Given the description of an element on the screen output the (x, y) to click on. 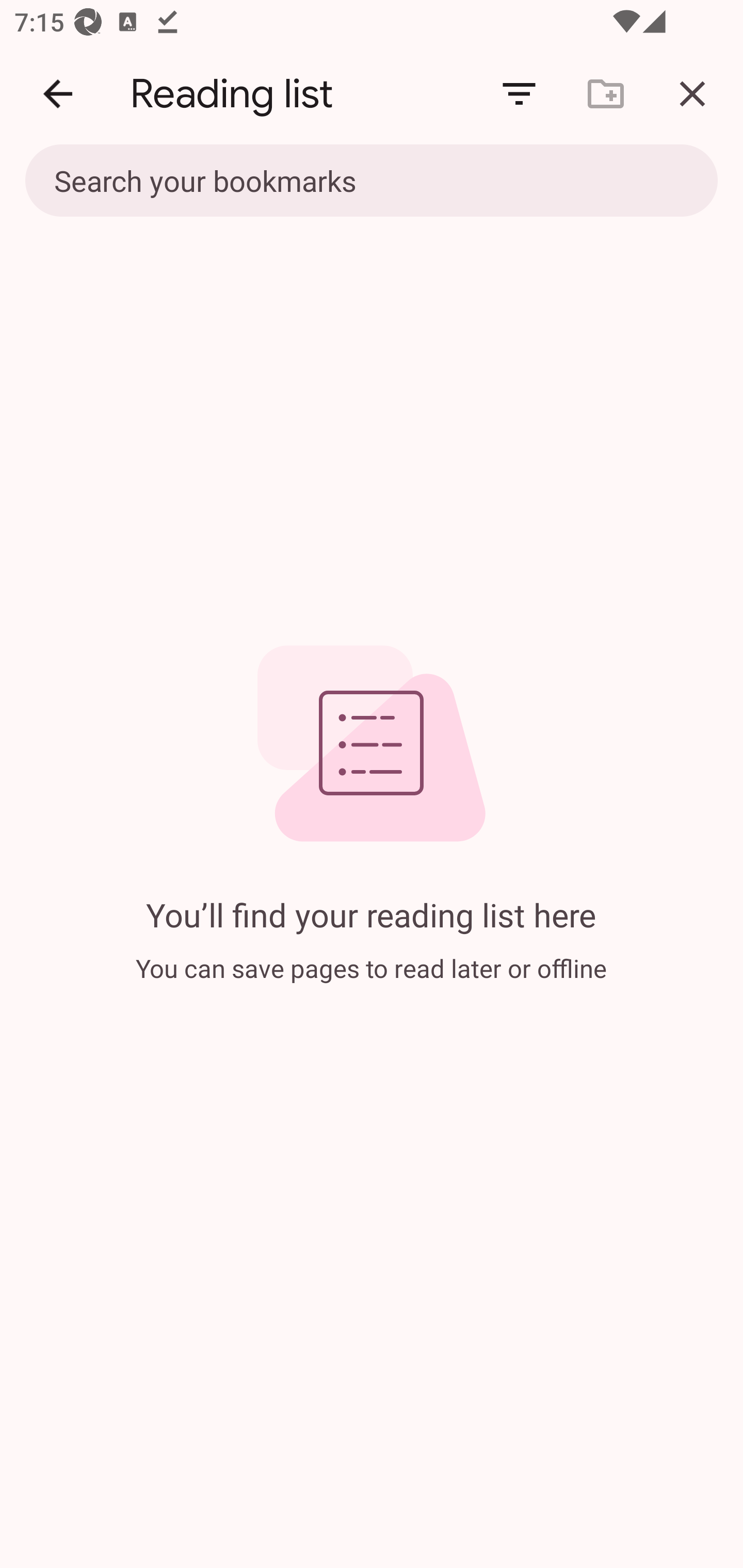
Go back (57, 93)
Sort and view options (518, 93)
Create new folder (605, 93)
Close dialog (692, 93)
Search your bookmarks (371, 181)
